Given the description of an element on the screen output the (x, y) to click on. 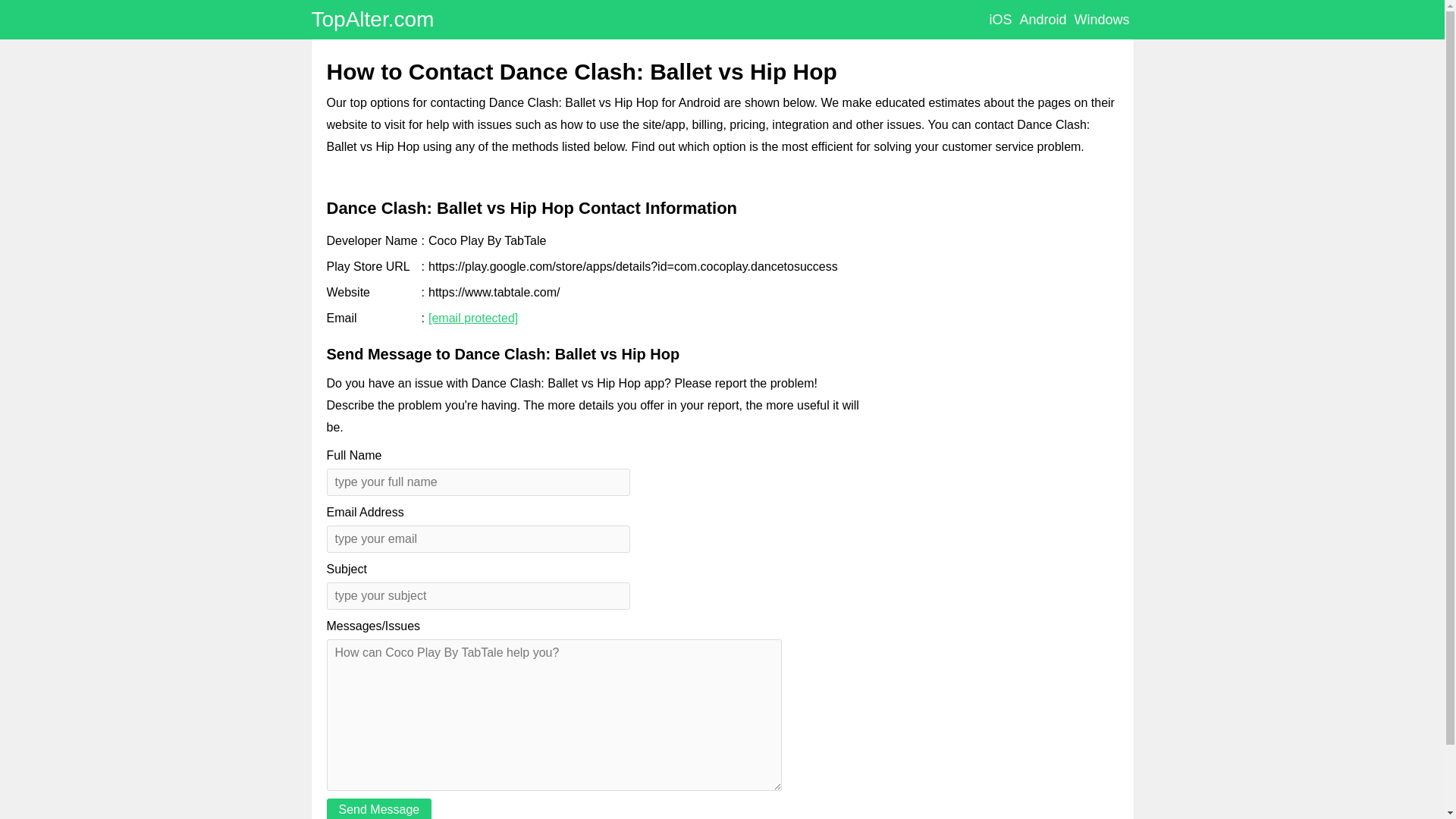
Windows (1101, 19)
iOS (999, 19)
Android (1042, 19)
Send Message (378, 808)
TopAlter.com (372, 19)
